Given the description of an element on the screen output the (x, y) to click on. 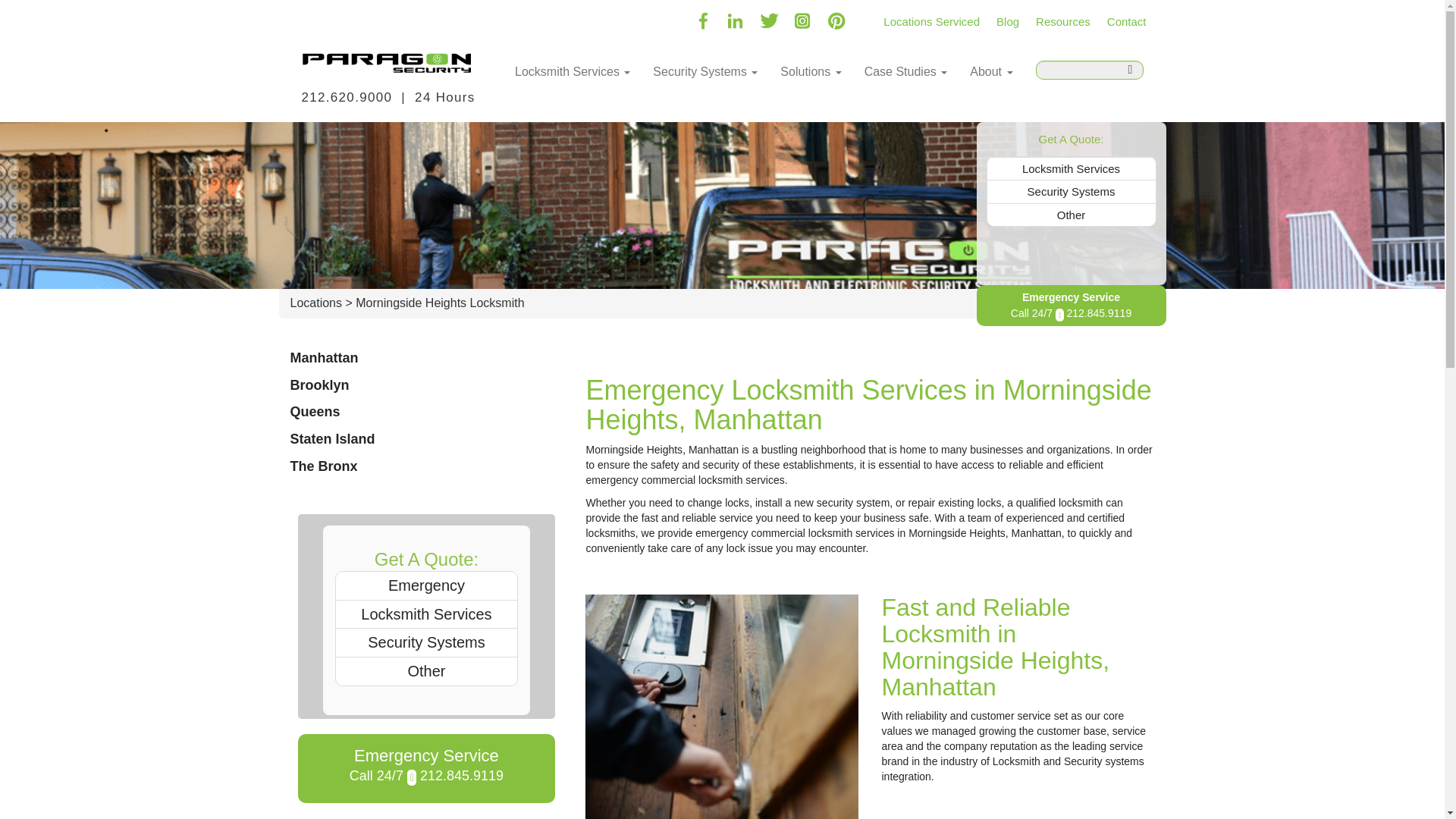
Blog (1007, 15)
Locksmith Services (572, 71)
Contact (1126, 15)
Resources (1063, 15)
212.620.9000 (347, 97)
Locations Serviced (931, 15)
